Given the description of an element on the screen output the (x, y) to click on. 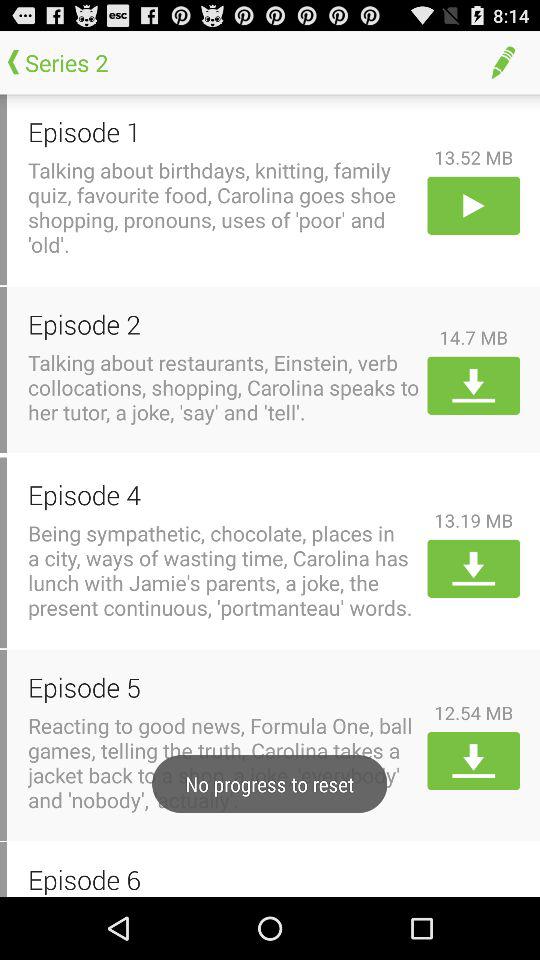
download content (473, 568)
